Given the description of an element on the screen output the (x, y) to click on. 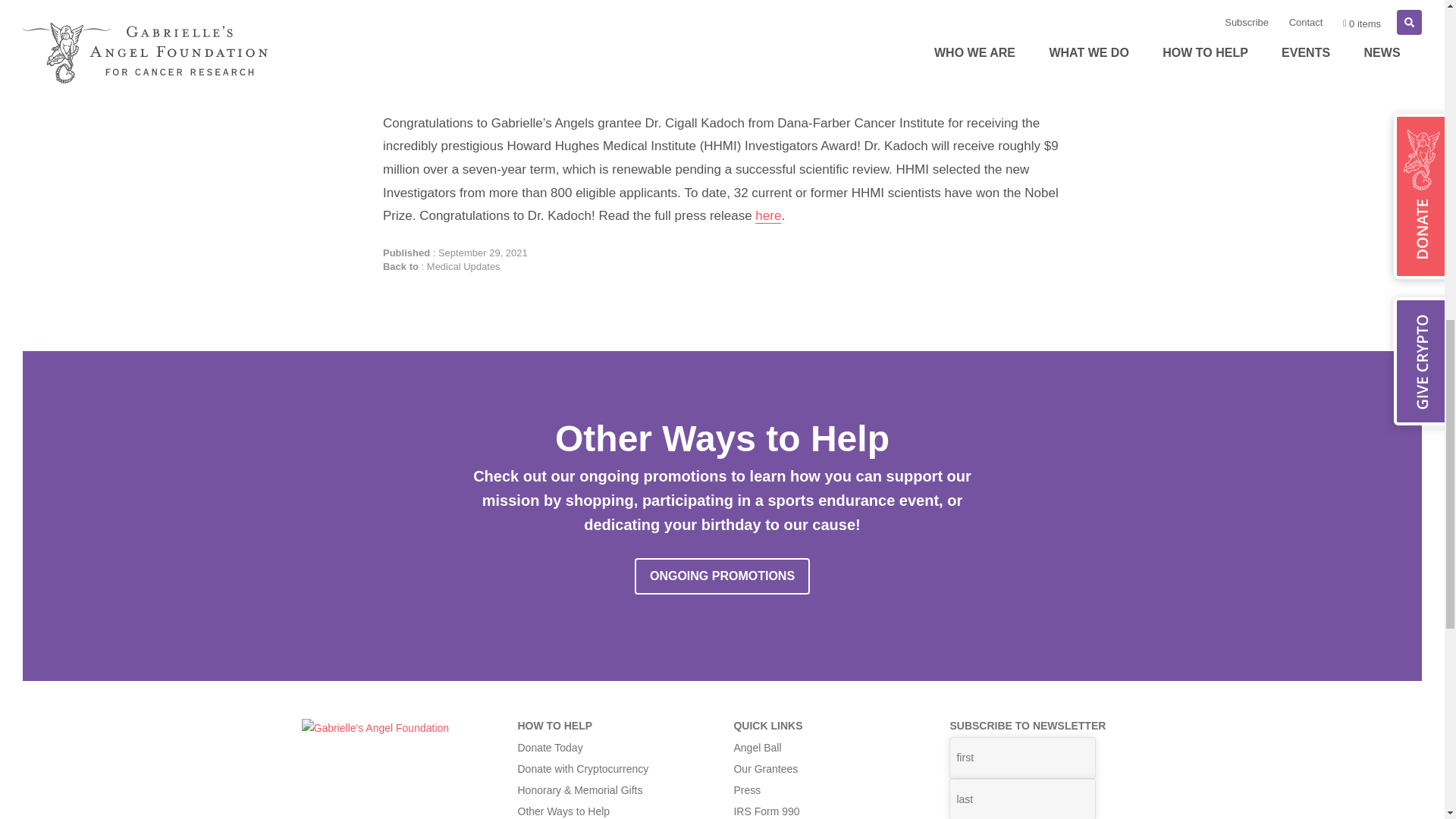
Gabrielle's Angel Foundation (375, 727)
